Given the description of an element on the screen output the (x, y) to click on. 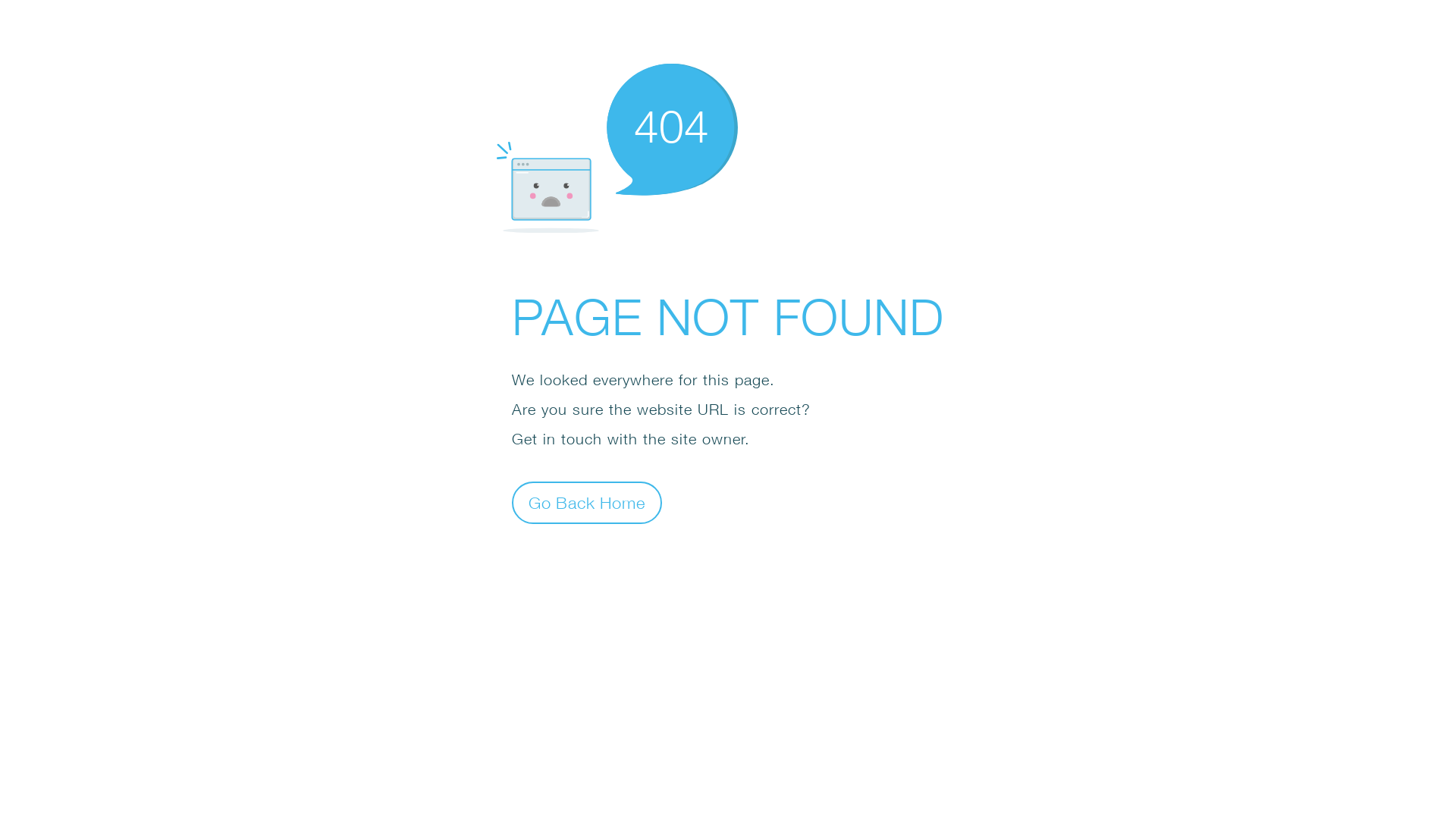
Go Back Home Element type: text (586, 502)
